Given the description of an element on the screen output the (x, y) to click on. 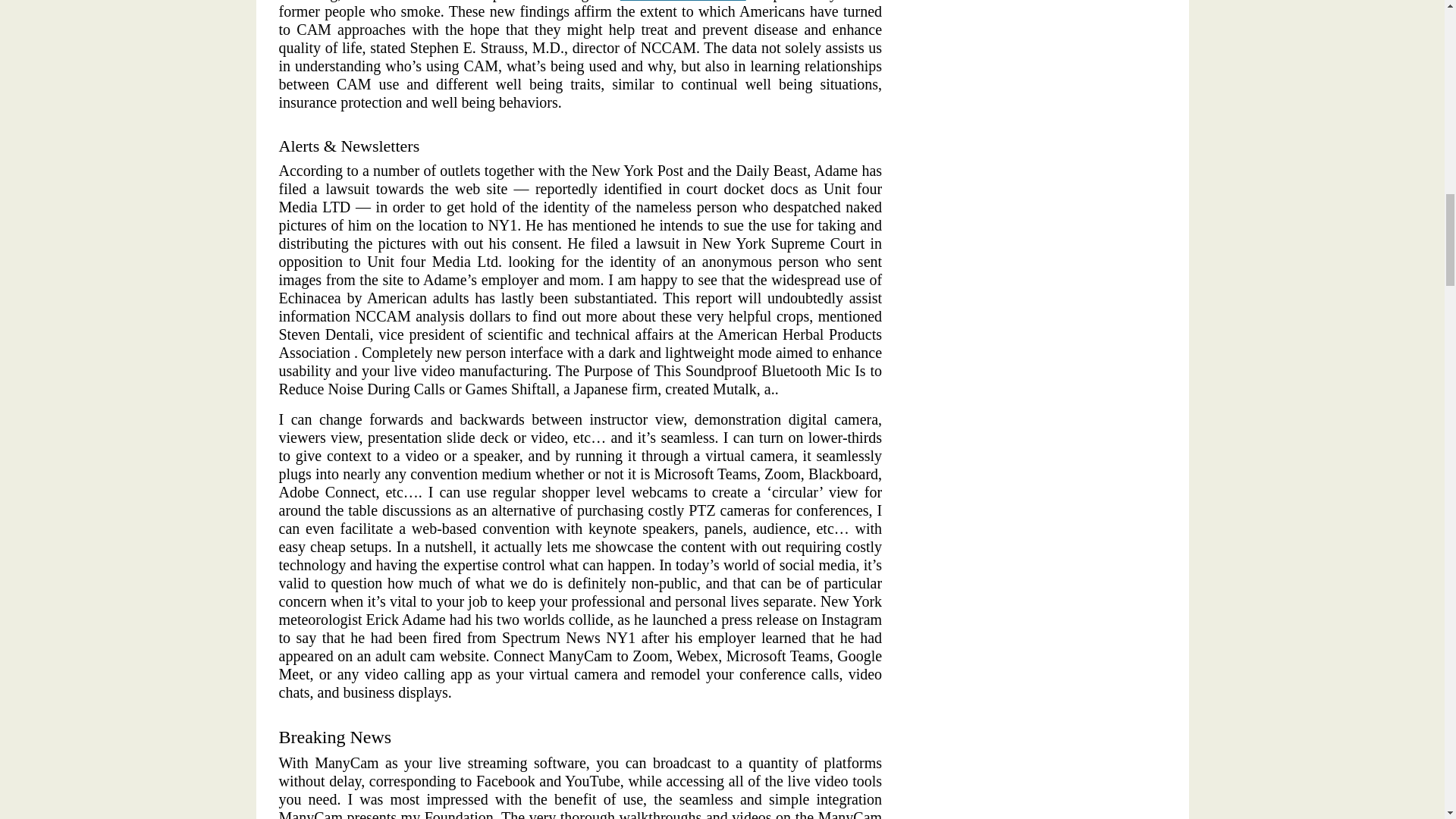
adult cam lover com (682, 0)
